Given the description of an element on the screen output the (x, y) to click on. 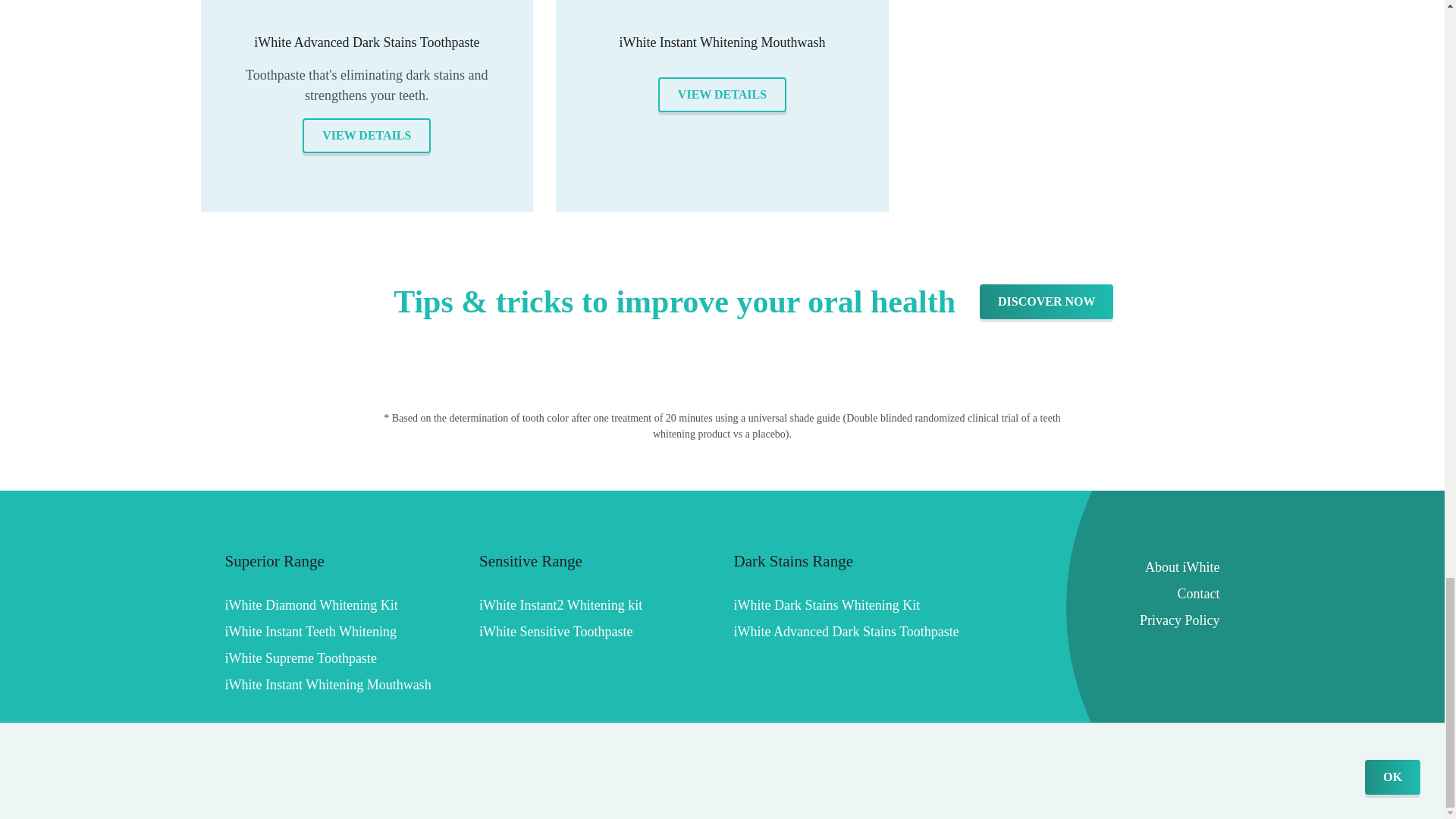
DISCOVER NOW (1046, 301)
iWhite Instant Whitening Mouthwash (721, 56)
iWhite Sensitive Toothpaste (327, 684)
iWhite Diamond Whitening Kit (555, 631)
iWhite Instant Teeth Whitening (310, 605)
iWhite Supreme Toothpaste (310, 631)
iWhite Instant2 Whitening kit (299, 658)
